Given the description of an element on the screen output the (x, y) to click on. 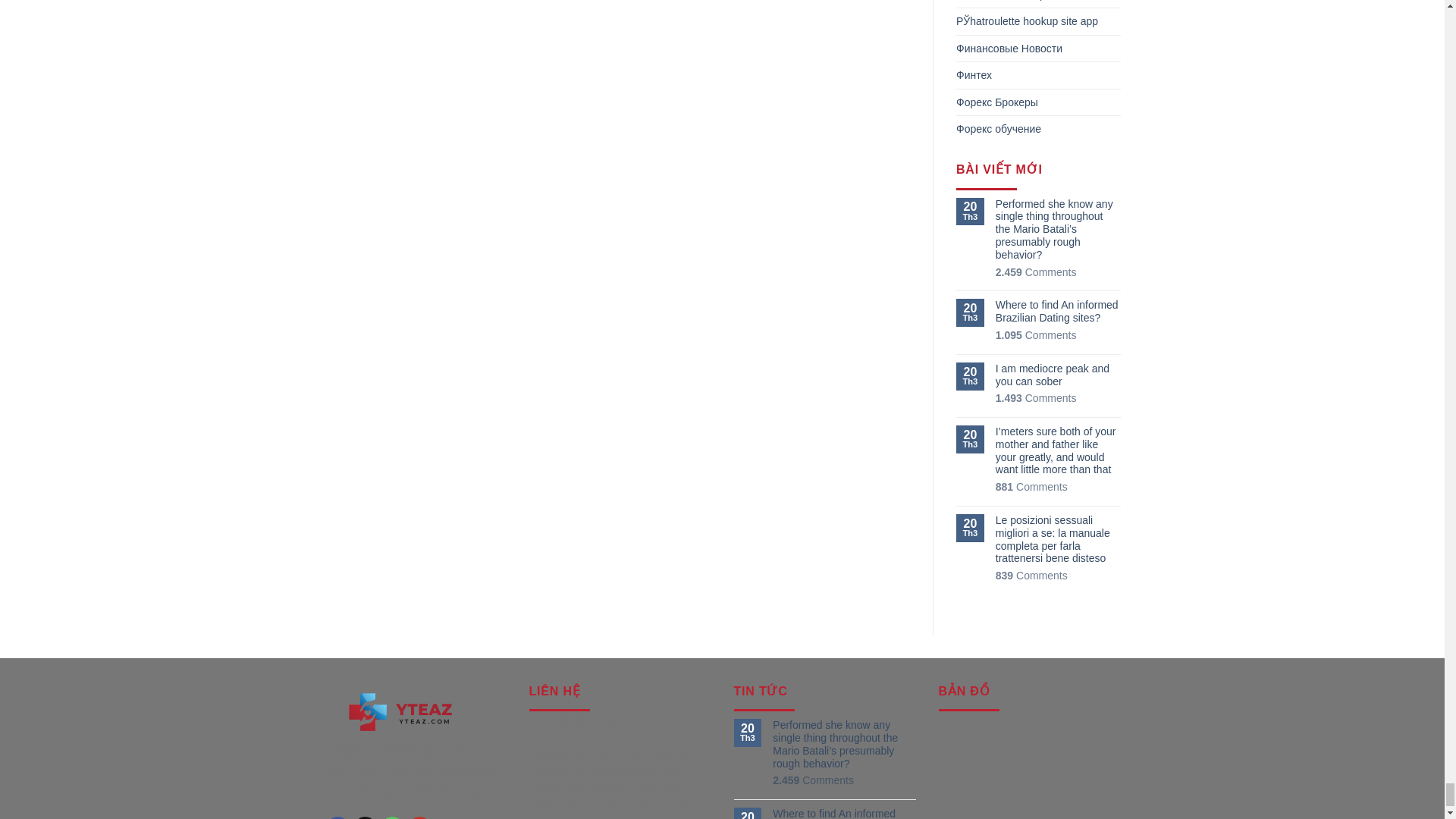
Follow on Facebook (337, 817)
Where to find An informed Brazilian Dating sites? (1058, 311)
I am mediocre peak and you can sober (1058, 375)
